Given the description of an element on the screen output the (x, y) to click on. 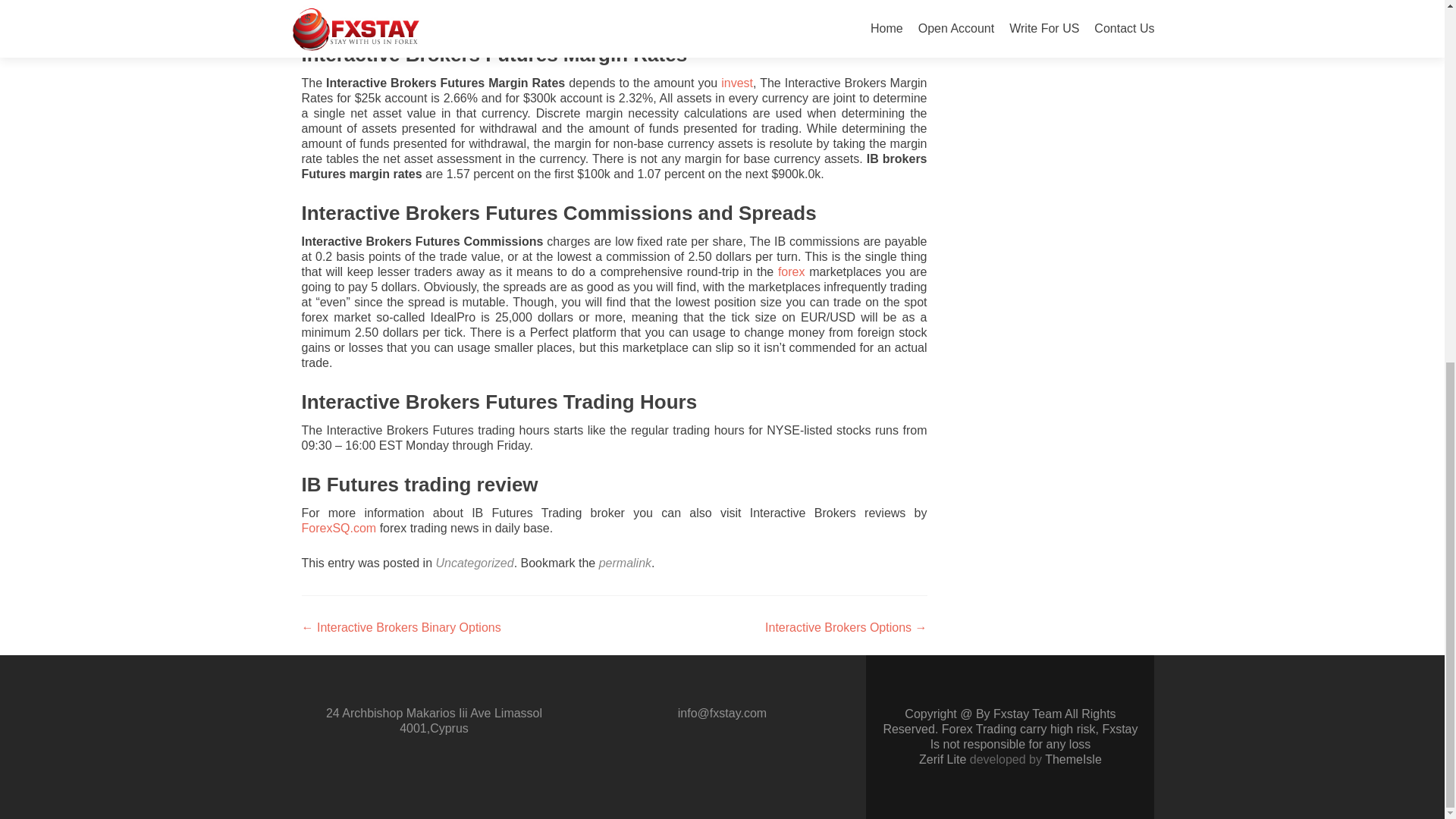
Zerif Lite (943, 758)
permalink (624, 562)
ForexSQ.com (340, 527)
forex (791, 271)
ThemeIsle (1073, 758)
Uncategorized (474, 562)
invest (736, 82)
